Given the description of an element on the screen output the (x, y) to click on. 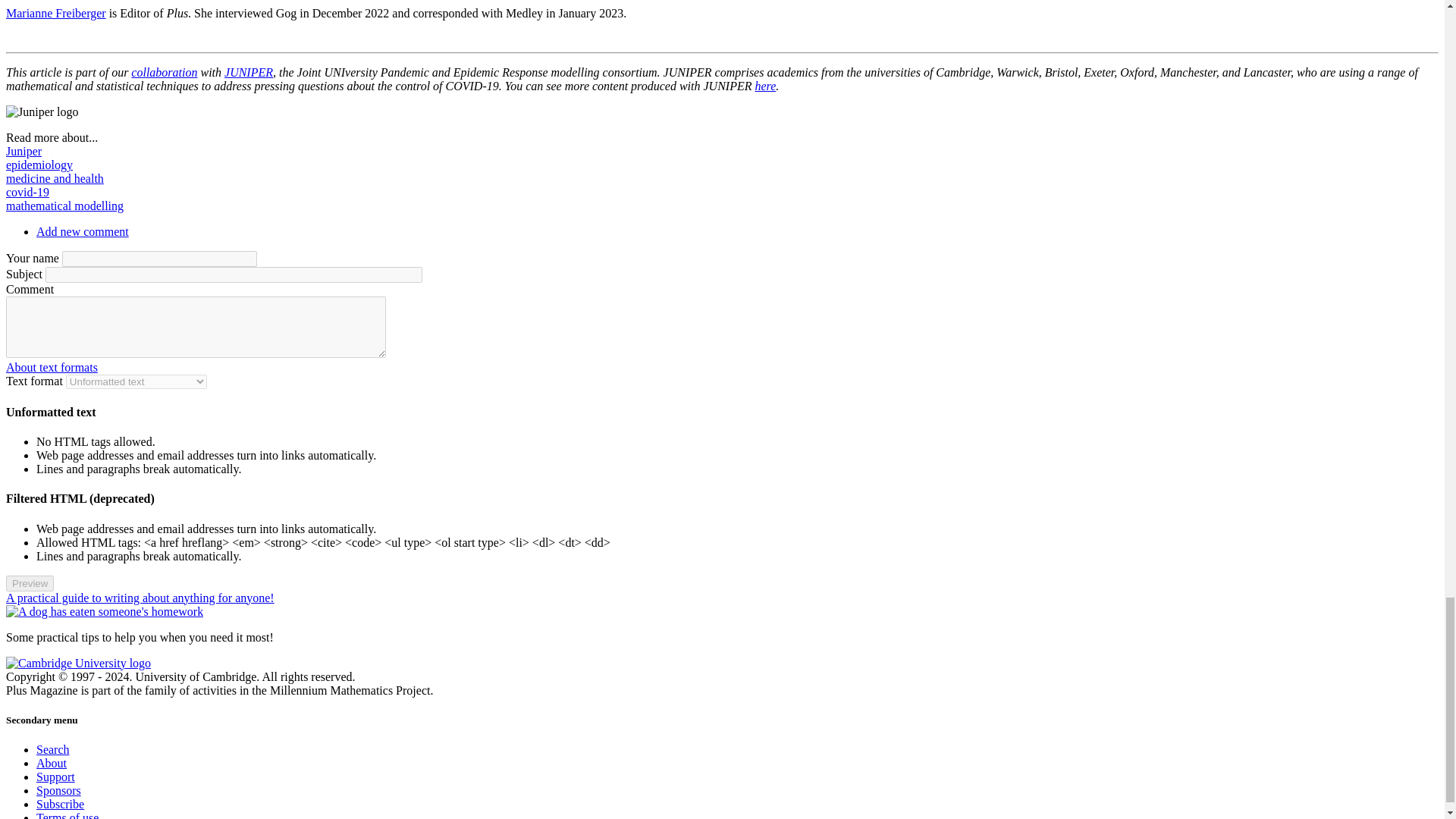
Preview (29, 583)
Share your thoughts and opinions. (82, 231)
